Given the description of an element on the screen output the (x, y) to click on. 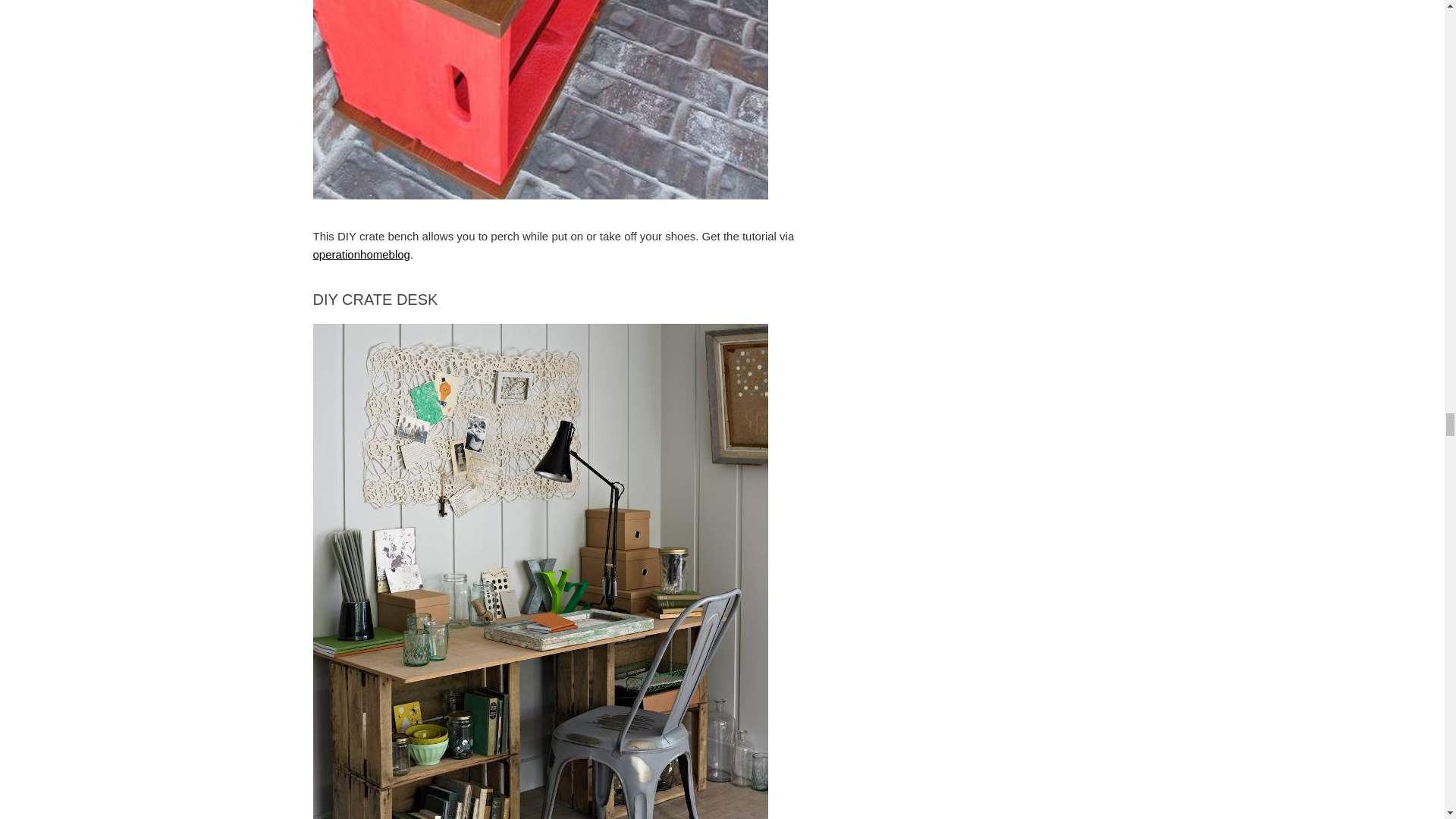
operationhomeblog (361, 254)
